Given the description of an element on the screen output the (x, y) to click on. 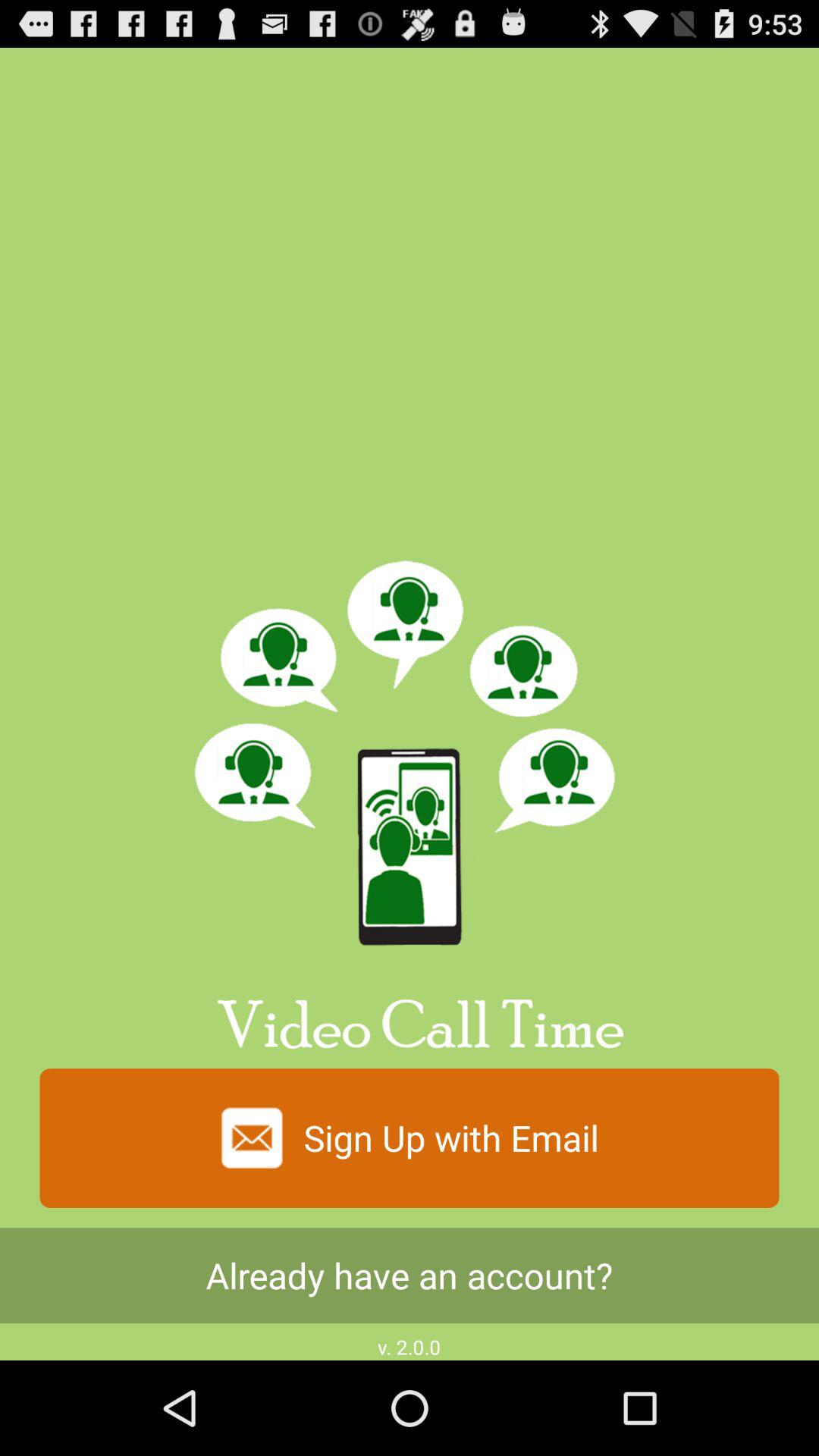
launch the item above the v 2 0 app (409, 1275)
